Given the description of an element on the screen output the (x, y) to click on. 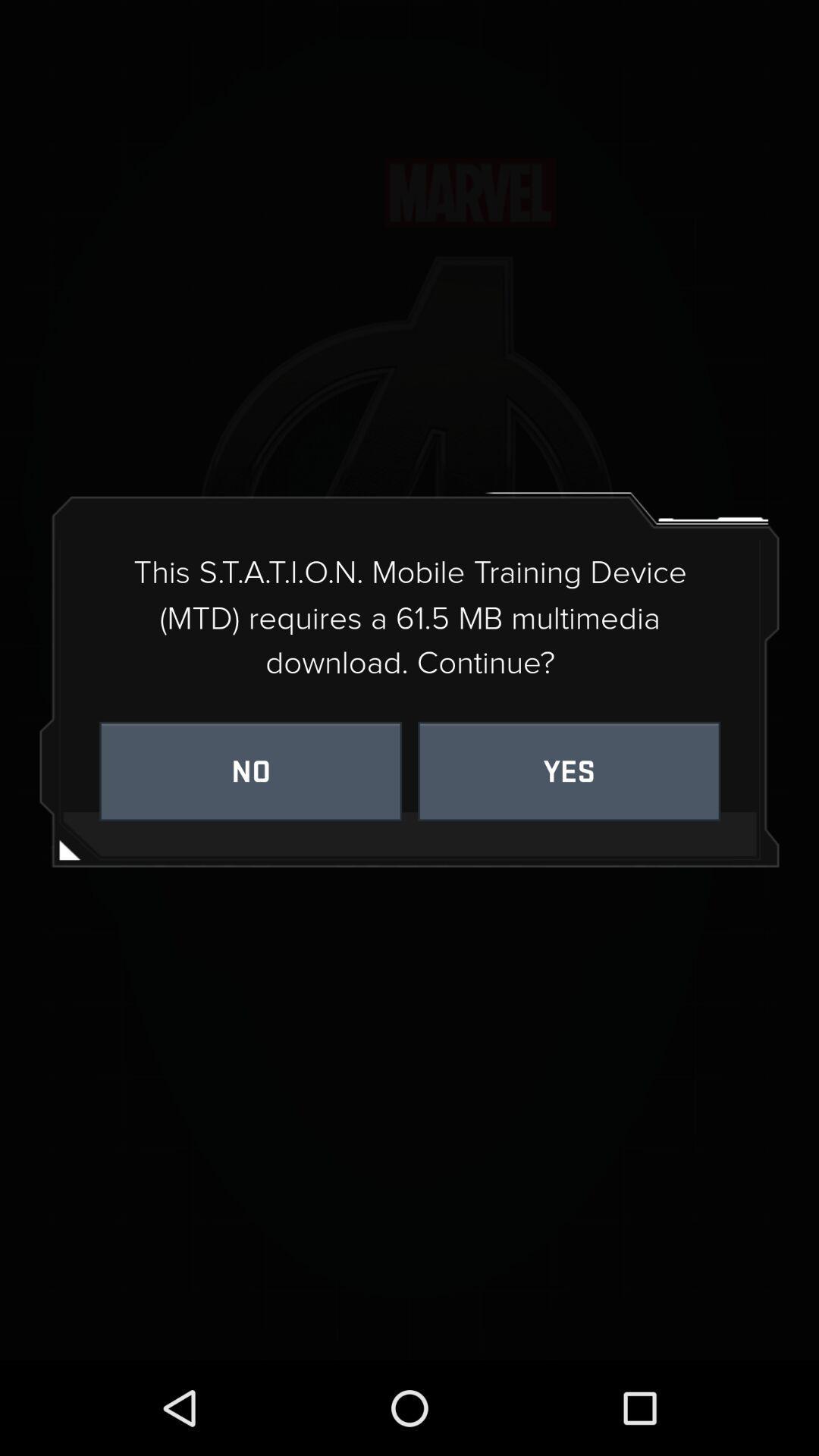
turn off icon next to no item (569, 771)
